Given the description of an element on the screen output the (x, y) to click on. 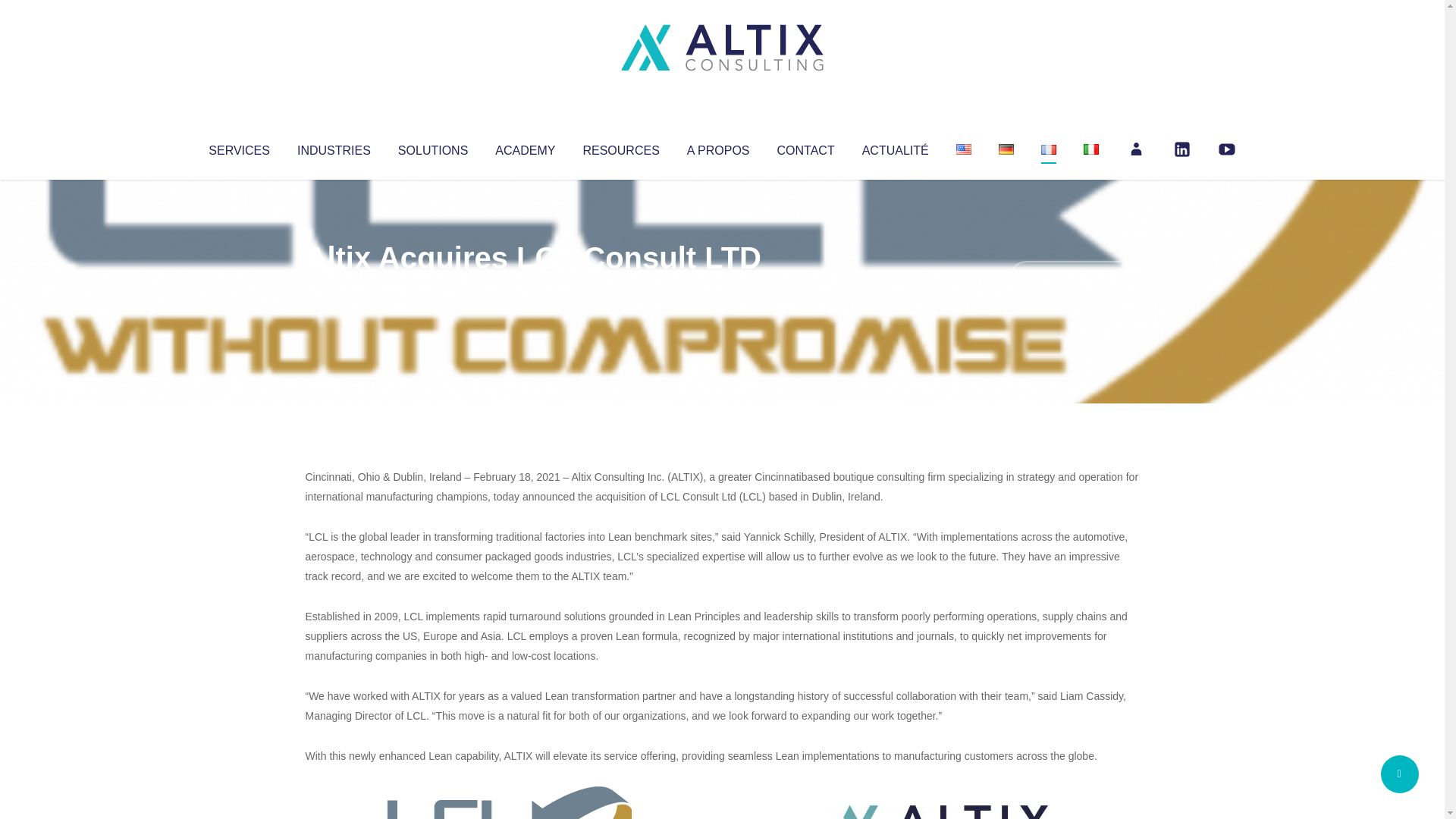
RESOURCES (620, 146)
No Comments (1073, 278)
SOLUTIONS (432, 146)
SERVICES (238, 146)
Uncategorized (530, 287)
ACADEMY (524, 146)
Articles par Altix (333, 287)
Altix (333, 287)
A PROPOS (718, 146)
INDUSTRIES (334, 146)
